Given the description of an element on the screen output the (x, y) to click on. 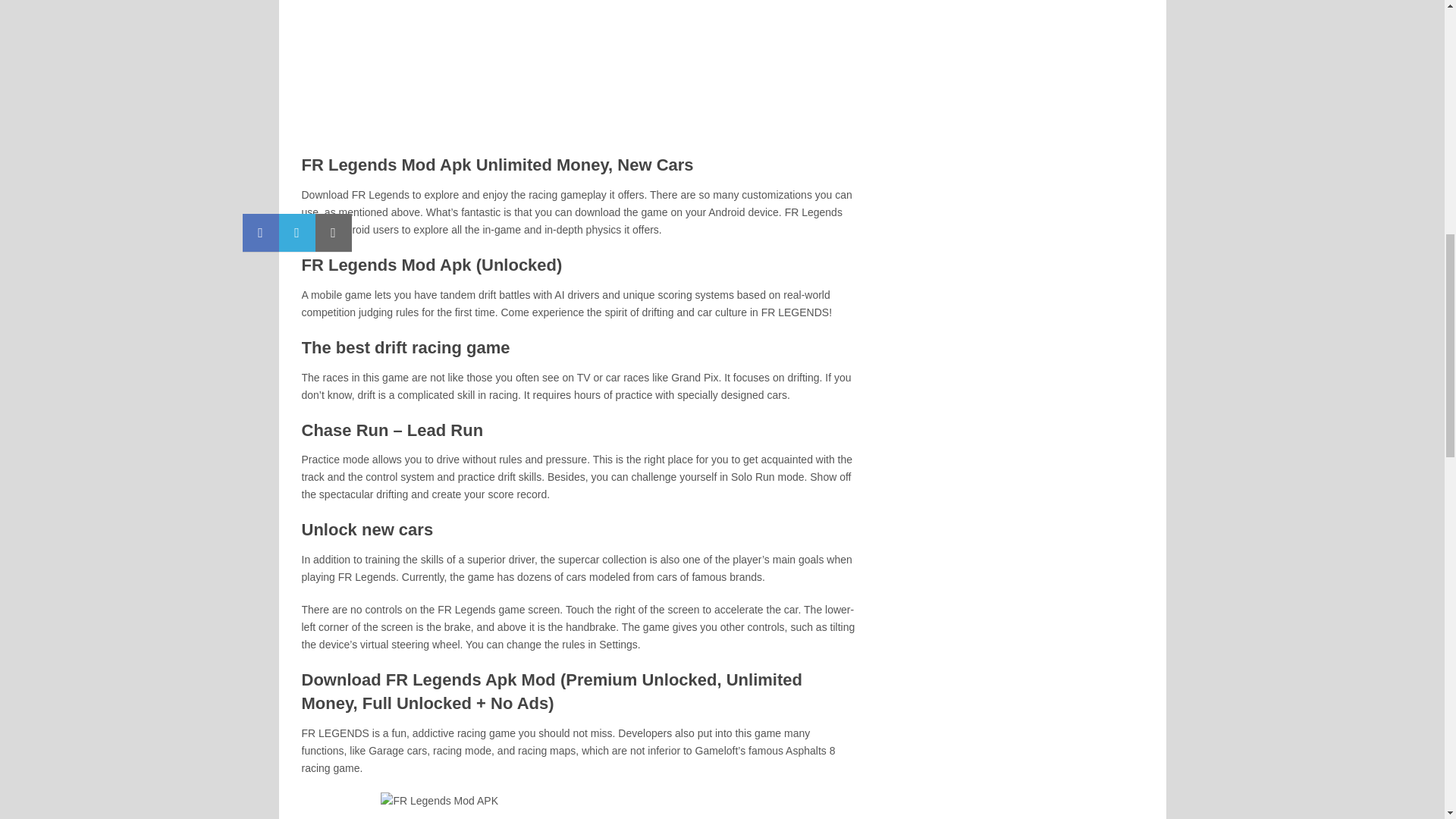
FR Legends Mod APK (577, 69)
FR Legends Mod APK (577, 805)
